Given the description of an element on the screen output the (x, y) to click on. 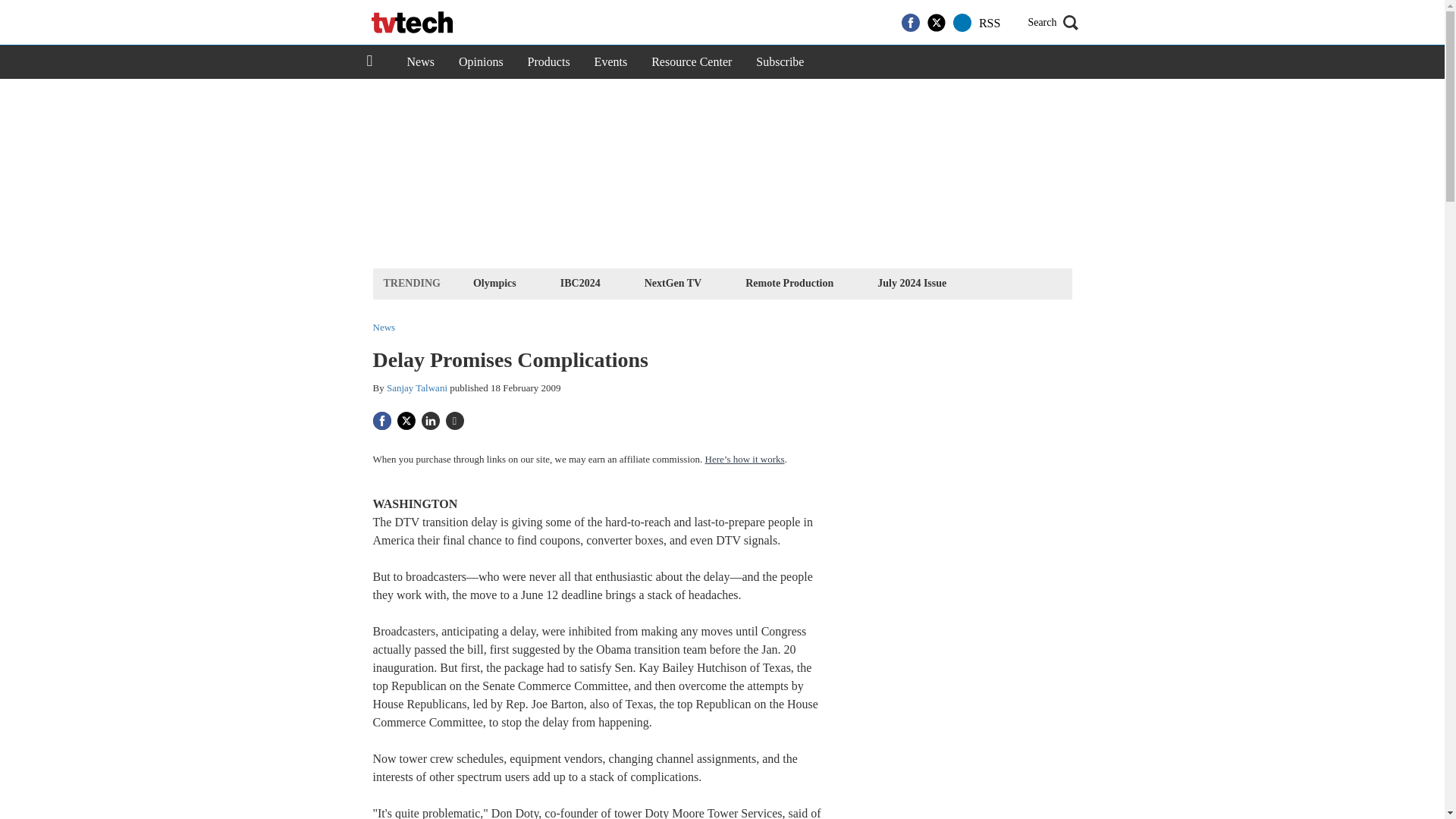
RSS (989, 22)
NextGen TV (673, 282)
Subscribe (779, 61)
Events (611, 61)
Olympics (494, 282)
News (419, 61)
Sanjay Talwani (416, 387)
Opinions (480, 61)
July 2024 Issue (912, 282)
Resource Center (691, 61)
Products (548, 61)
IBC2024 (579, 282)
Remote Production (788, 282)
